Given the description of an element on the screen output the (x, y) to click on. 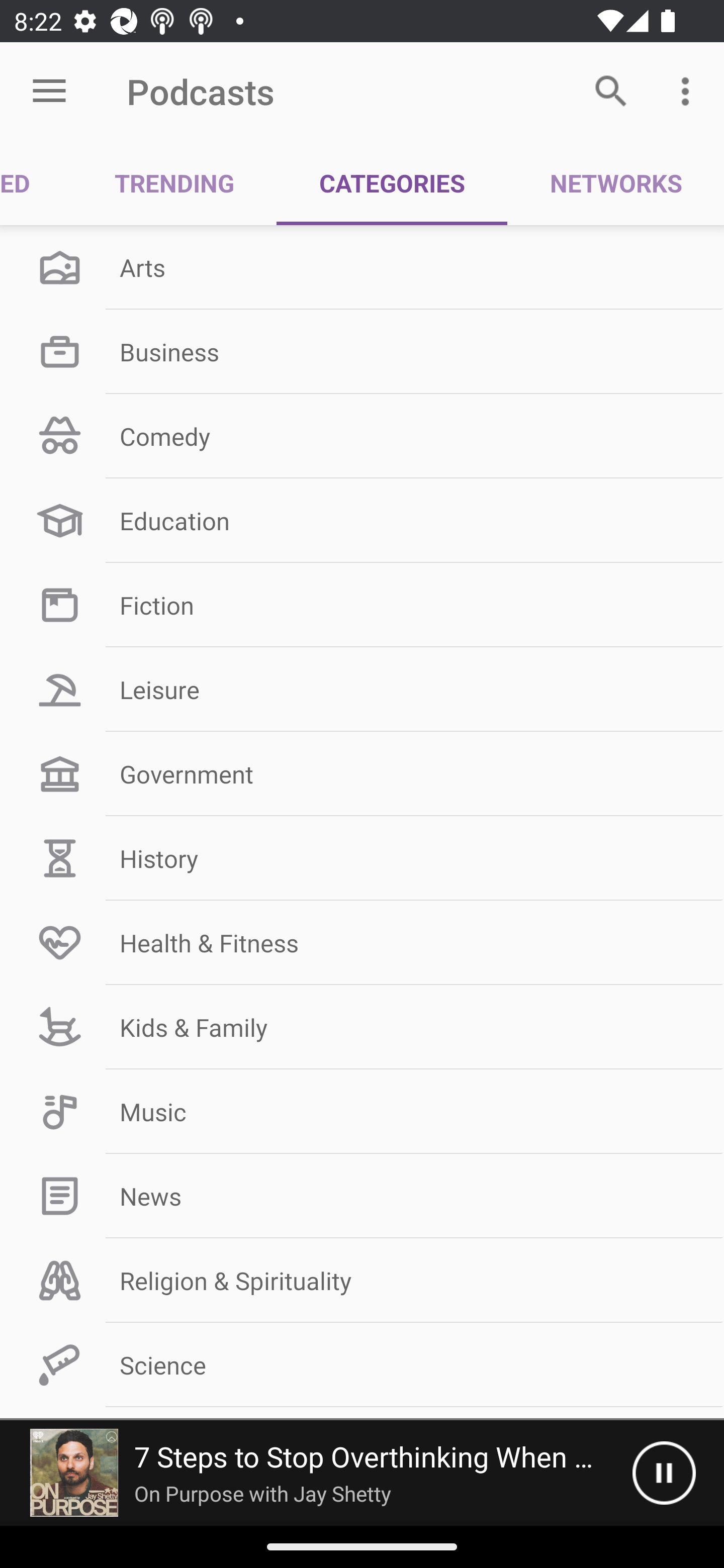
Open menu (49, 91)
Search (611, 90)
More options (688, 90)
TRENDING (174, 183)
CATEGORIES (391, 183)
NETWORKS (615, 183)
Arts (362, 266)
Business (362, 350)
Comedy (362, 435)
Education (362, 520)
Fiction (362, 604)
Leisure (362, 689)
Government (362, 774)
History (362, 858)
Health & Fitness (362, 942)
Kids & Family (362, 1026)
Music (362, 1111)
News (362, 1196)
Religion & Spirituality (362, 1280)
Science (362, 1364)
Pause (663, 1472)
